Given the description of an element on the screen output the (x, y) to click on. 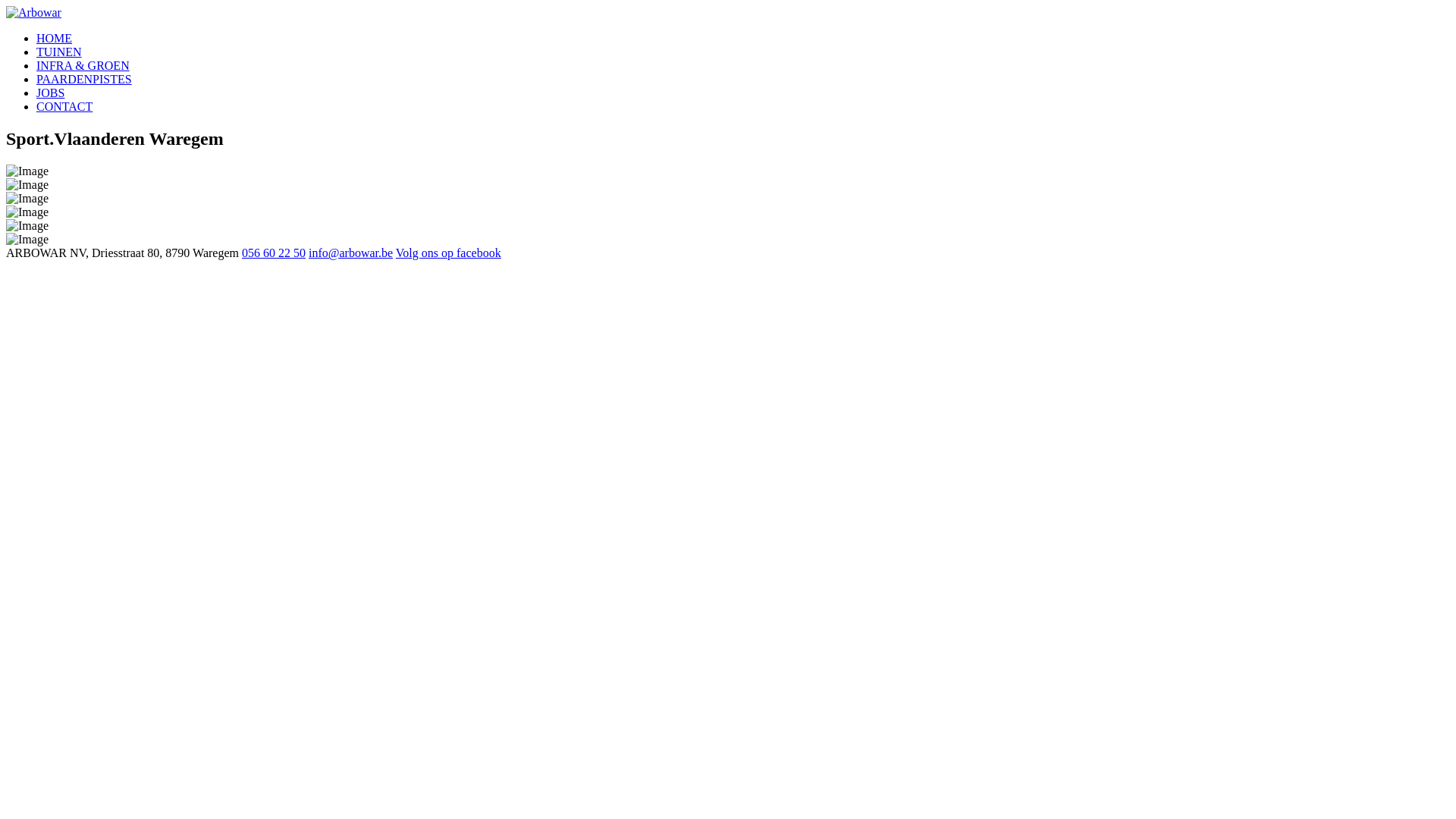
HOME Element type: text (54, 37)
TUINEN Element type: text (58, 51)
INFRA & GROEN Element type: text (82, 65)
PAARDENPISTES Element type: text (83, 78)
CONTACT Element type: text (64, 106)
056 60 22 50 Element type: text (273, 252)
info@arbowar.be Element type: text (350, 252)
JOBS Element type: text (50, 92)
Volg ons op facebook Element type: text (448, 252)
